Given the description of an element on the screen output the (x, y) to click on. 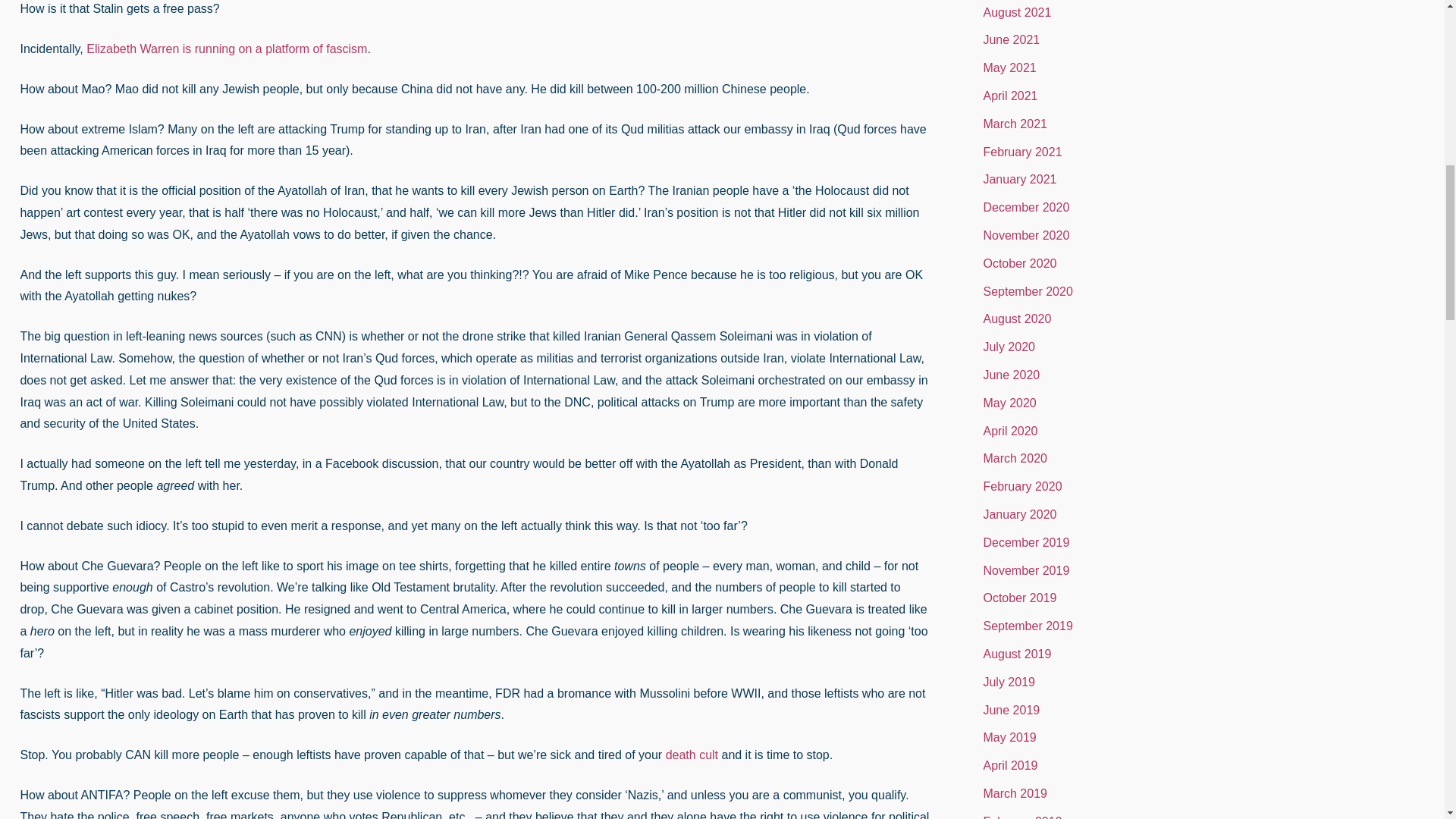
June 2021 (1010, 39)
Elizabeth Warren is running on a platform of fascism (225, 48)
death cult (691, 754)
August 2021 (1016, 11)
